Given the description of an element on the screen output the (x, y) to click on. 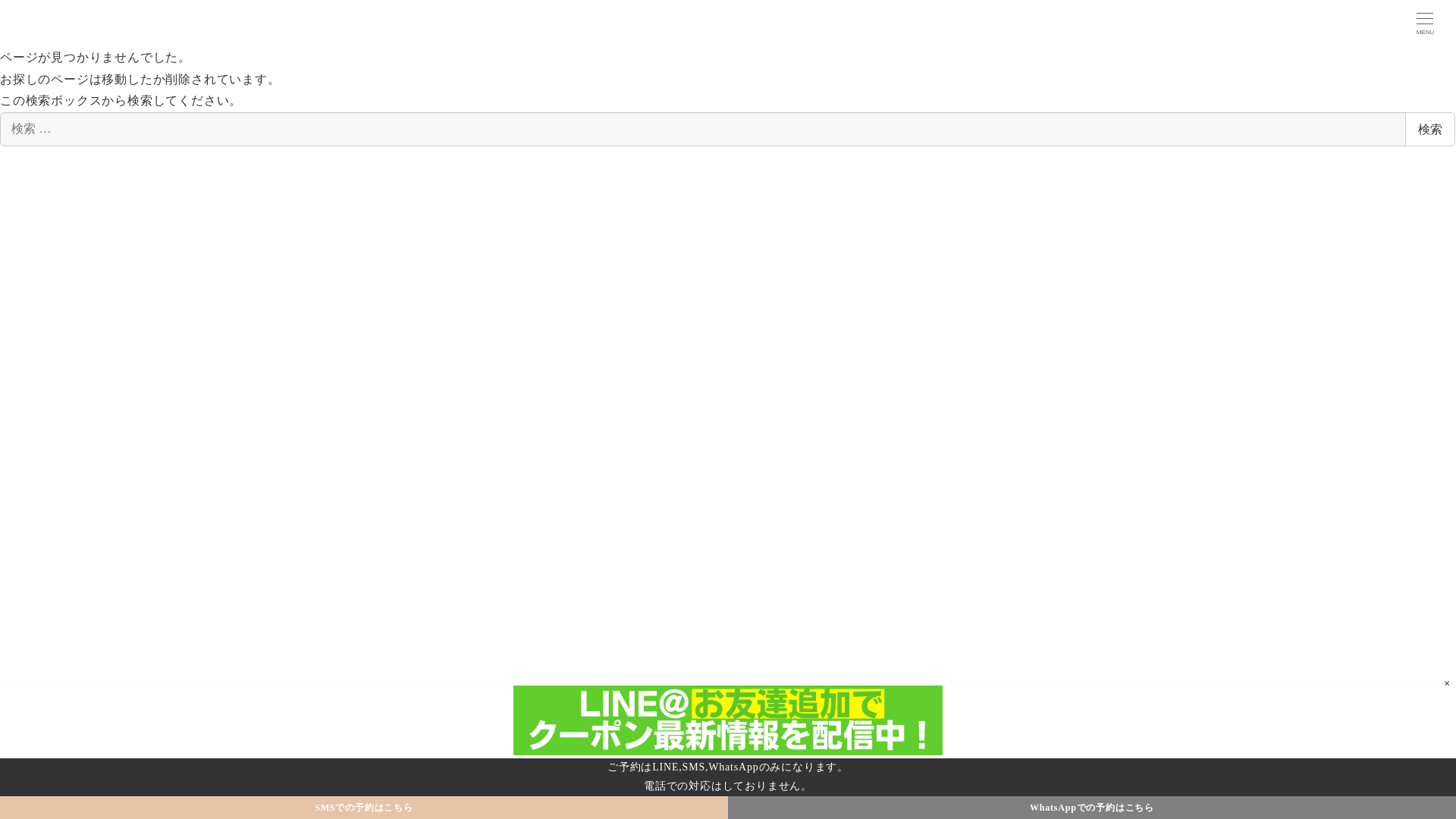
MENU (1425, 23)
RECRUIT (1308, 764)
Product (681, 764)
PRICE (179, 764)
GALLERY (228, 764)
HOME (139, 764)
